Given the description of an element on the screen output the (x, y) to click on. 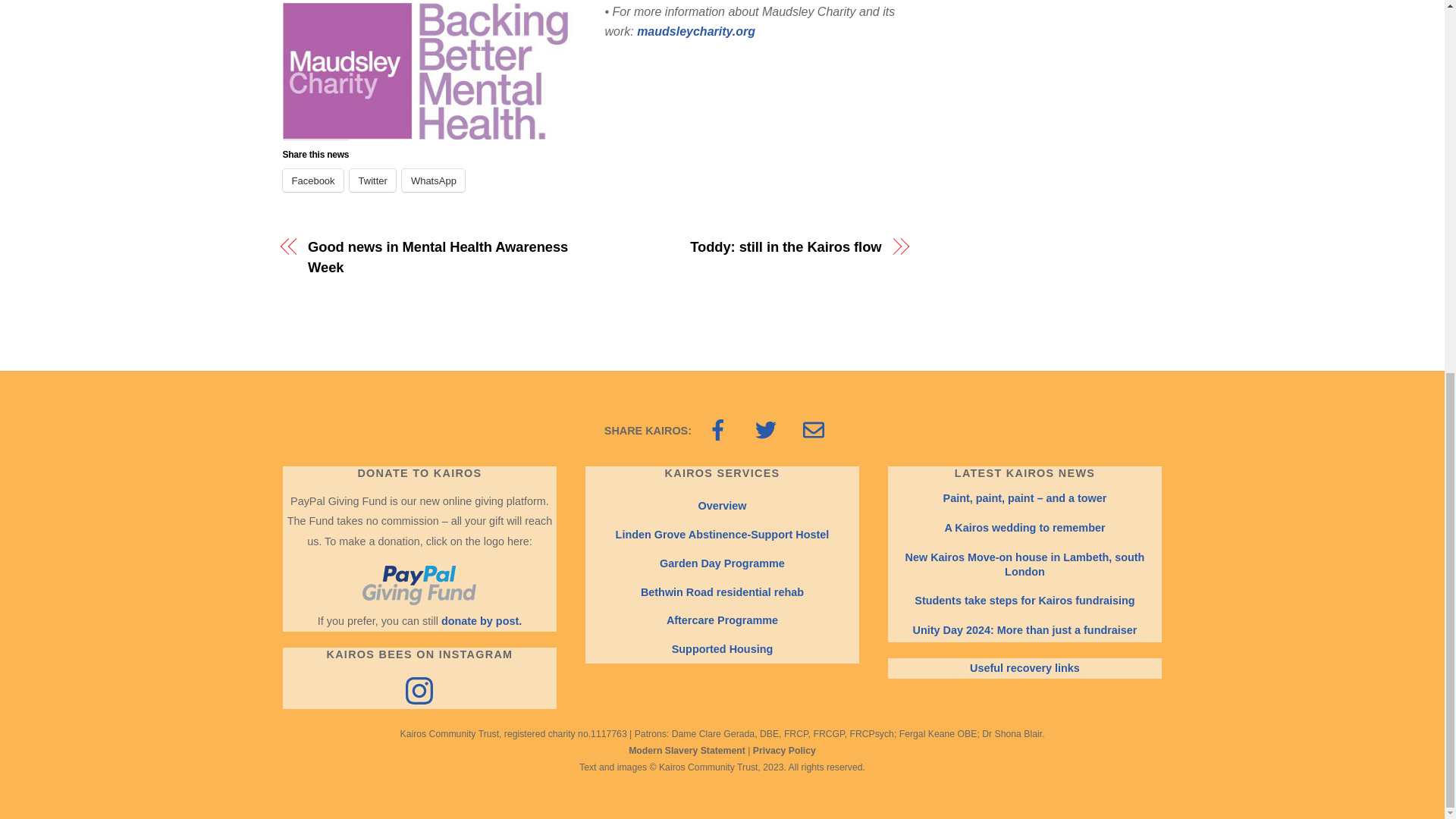
Toddy: still in the Kairos flow (746, 247)
v2 Maudsley-charity (433, 70)
Click to share on WhatsApp (432, 179)
donate by post. (481, 621)
Instagram (419, 690)
WhatsApp (432, 179)
Click to share on Twitter (372, 179)
Good news in Mental Health Awareness Week (441, 257)
maudsleycharity.org (696, 31)
Twitter (372, 179)
